Given the description of an element on the screen output the (x, y) to click on. 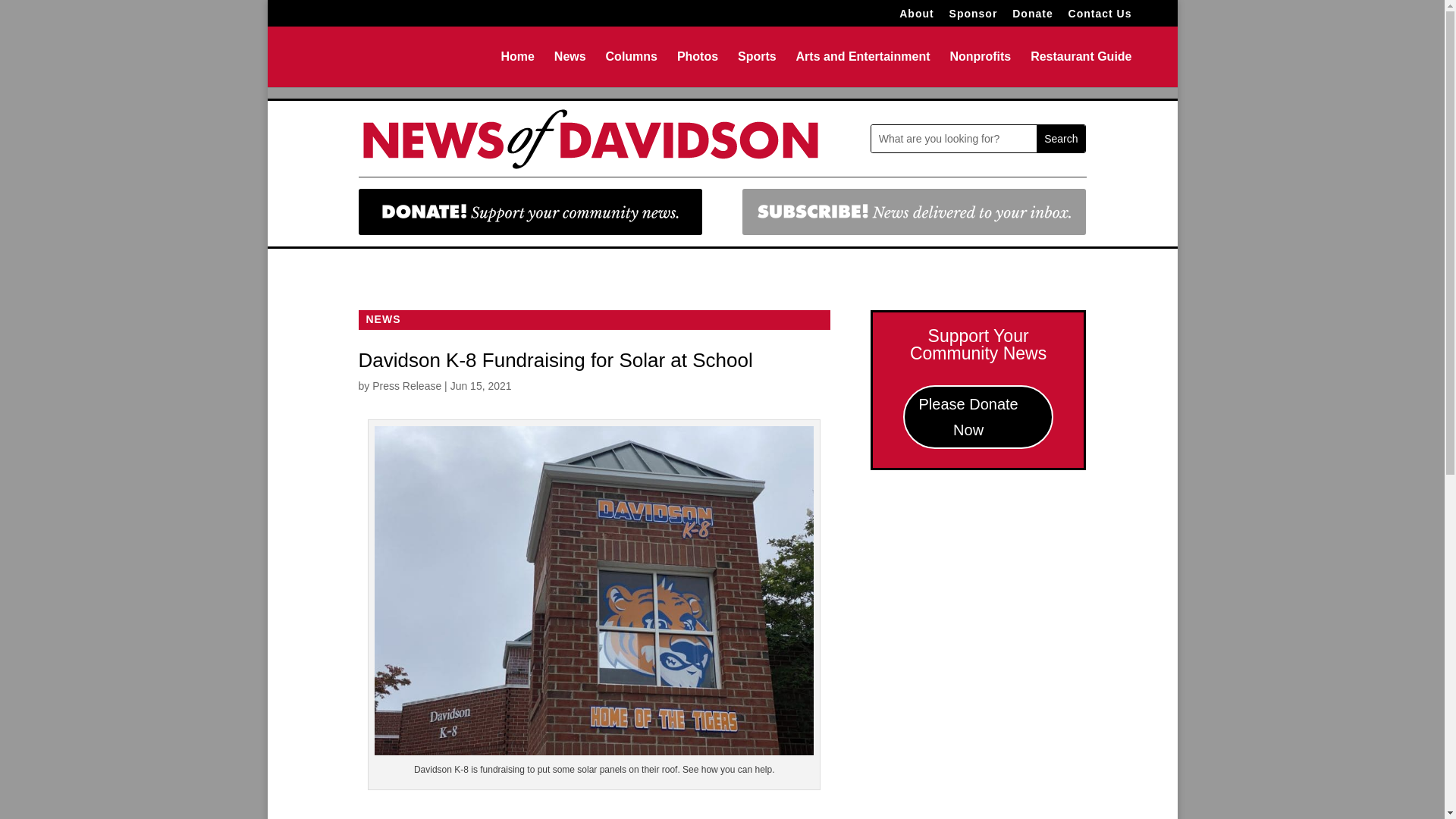
Photos (697, 68)
Contact Us (1100, 16)
DonateButton-01 (529, 212)
SubscribeButton-02 (914, 212)
Please Donate Now (978, 416)
Search (1060, 138)
Columns (631, 68)
Sports (757, 68)
Search (1060, 138)
Search (1060, 138)
Press Release (406, 386)
Arts and Entertainment (863, 68)
Posts by Press Release (406, 386)
About (916, 16)
Donate (1031, 16)
